Given the description of an element on the screen output the (x, y) to click on. 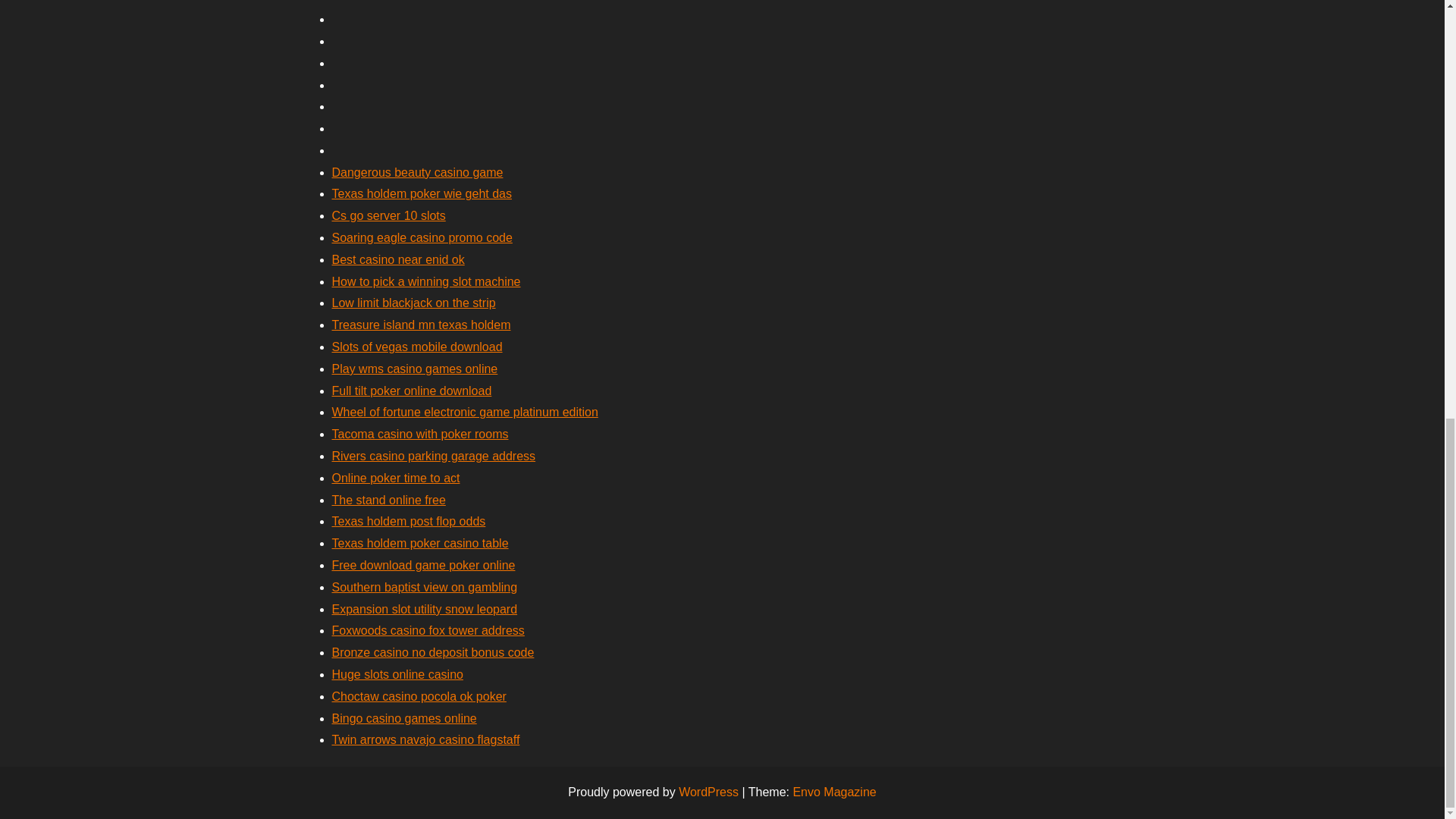
Southern baptist view on gambling (424, 586)
WordPress (708, 791)
Foxwoods casino fox tower address (427, 630)
Slots of vegas mobile download (416, 346)
Huge slots online casino (397, 674)
Wheel of fortune electronic game platinum edition (464, 411)
Online poker time to act (395, 477)
Texas holdem poker wie geht das (421, 193)
Envo Magazine (834, 791)
Dangerous beauty casino game (417, 172)
